Given the description of an element on the screen output the (x, y) to click on. 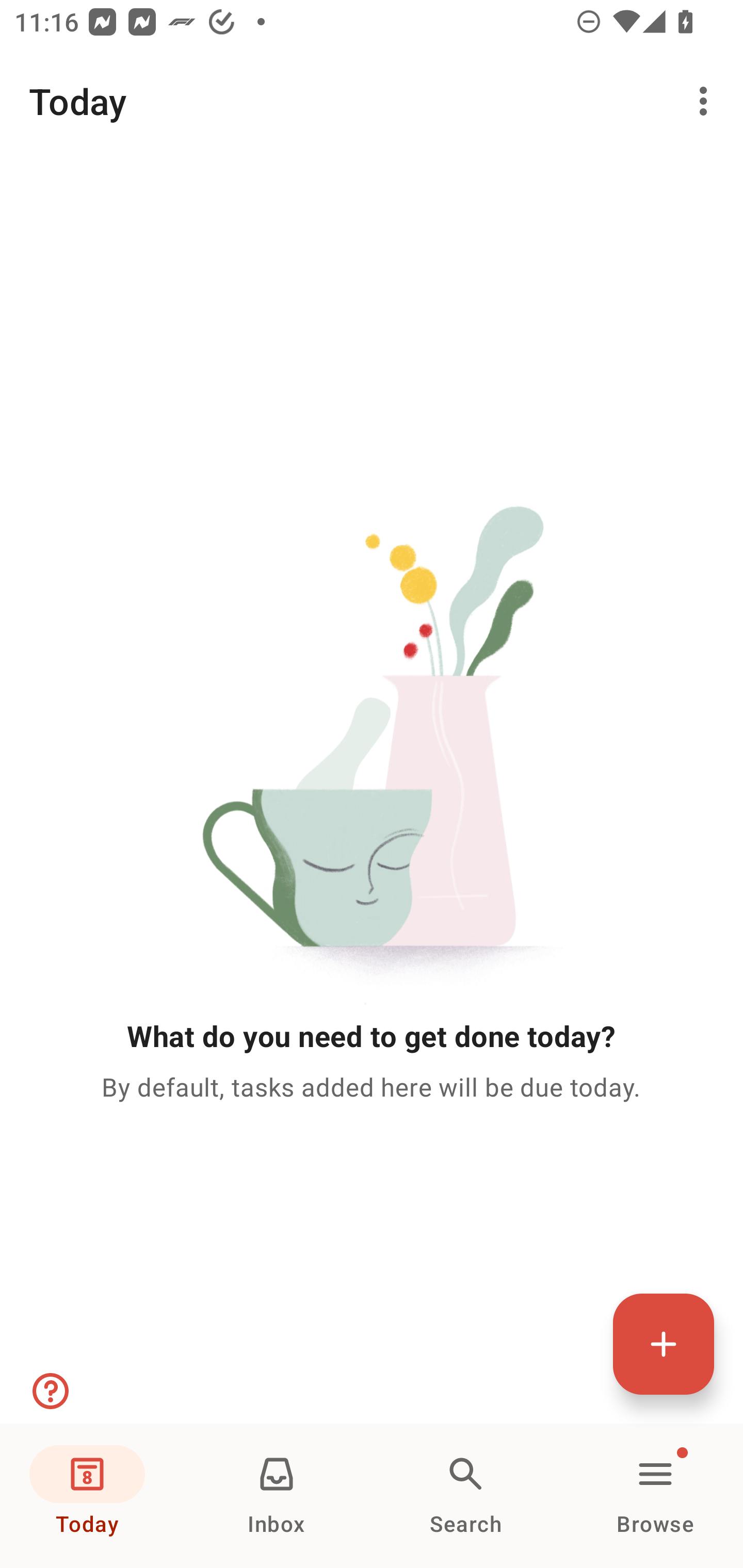
Today More options (371, 100)
More options (706, 101)
Quick add (663, 1343)
How to plan your day (48, 1390)
Inbox (276, 1495)
Search (465, 1495)
Browse (655, 1495)
